Given the description of an element on the screen output the (x, y) to click on. 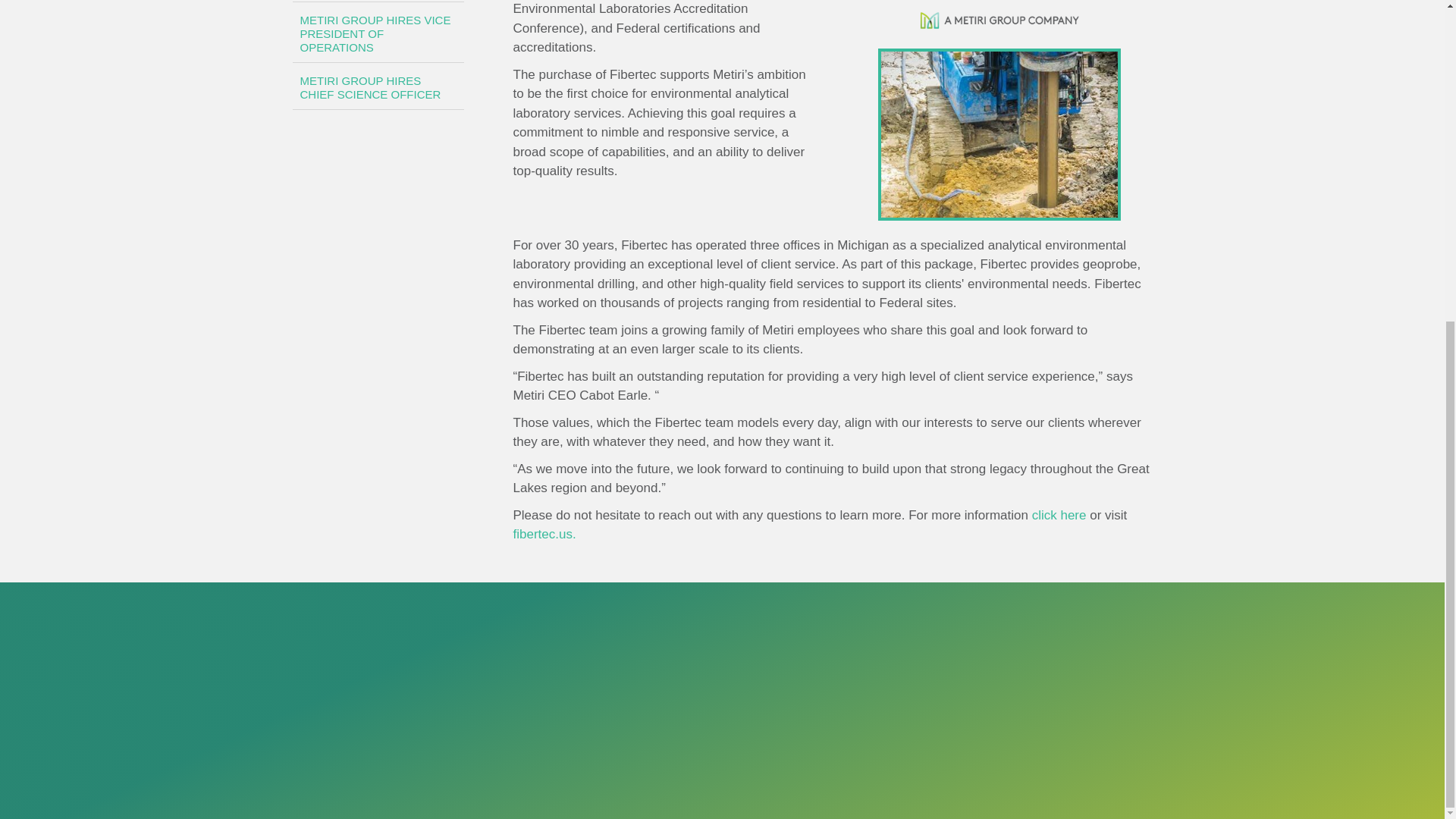
METIRI GROUP HIRES VICE PRESIDENT OF OPERATIONS (378, 34)
METIRI GROUP EXPANDS PFAS CAPABILITIES IN MICHIGAN (378, 1)
METIRI GROUP HIRES CHIEF SCIENCE OFFICER (378, 87)
fibertec-metiri-group-logo (999, 22)
click here (1059, 514)
fibertec.us. (543, 534)
fibertec-field-testing (999, 134)
